Given the description of an element on the screen output the (x, y) to click on. 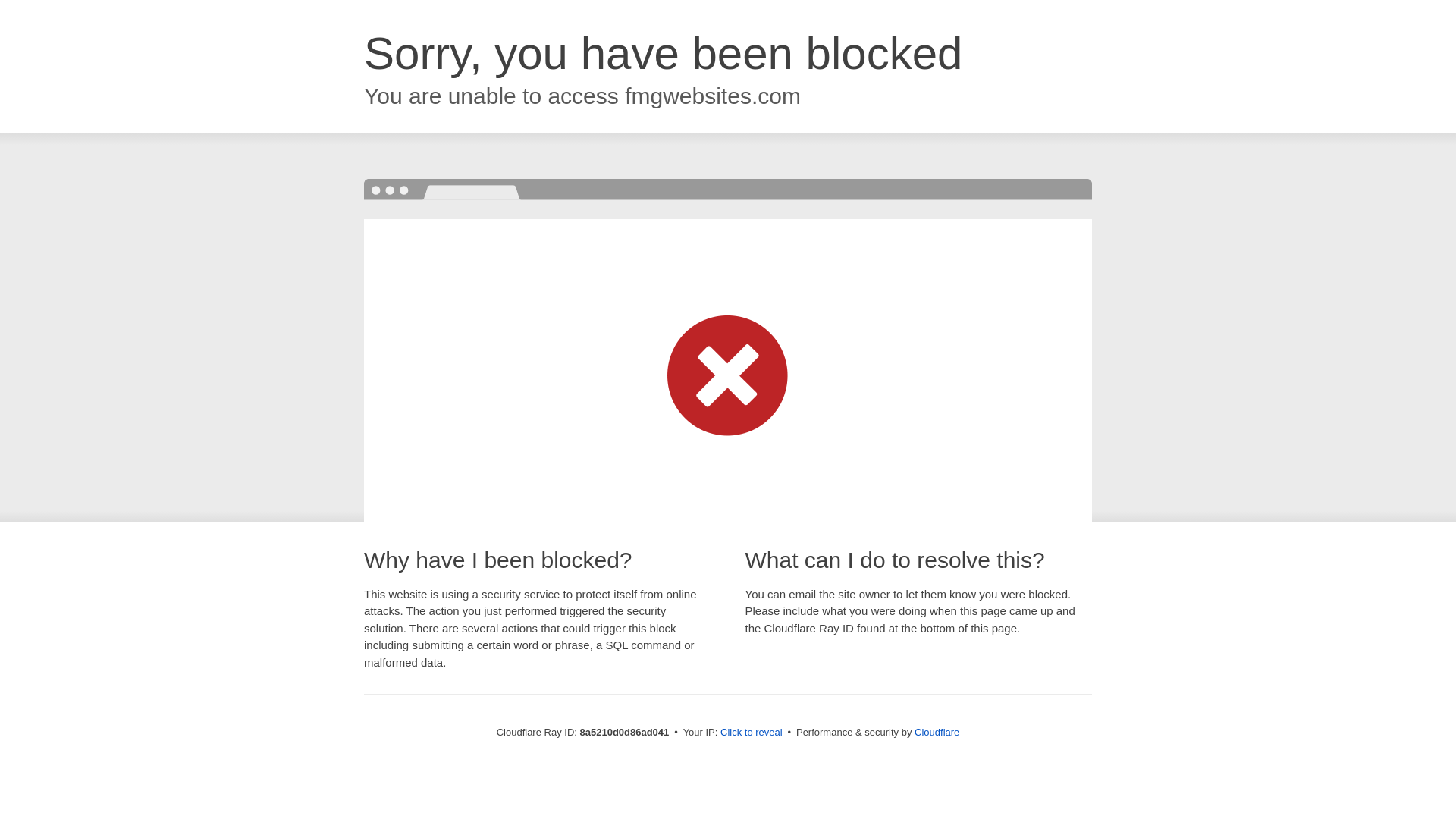
Click to reveal (751, 732)
Cloudflare (936, 731)
